Given the description of an element on the screen output the (x, y) to click on. 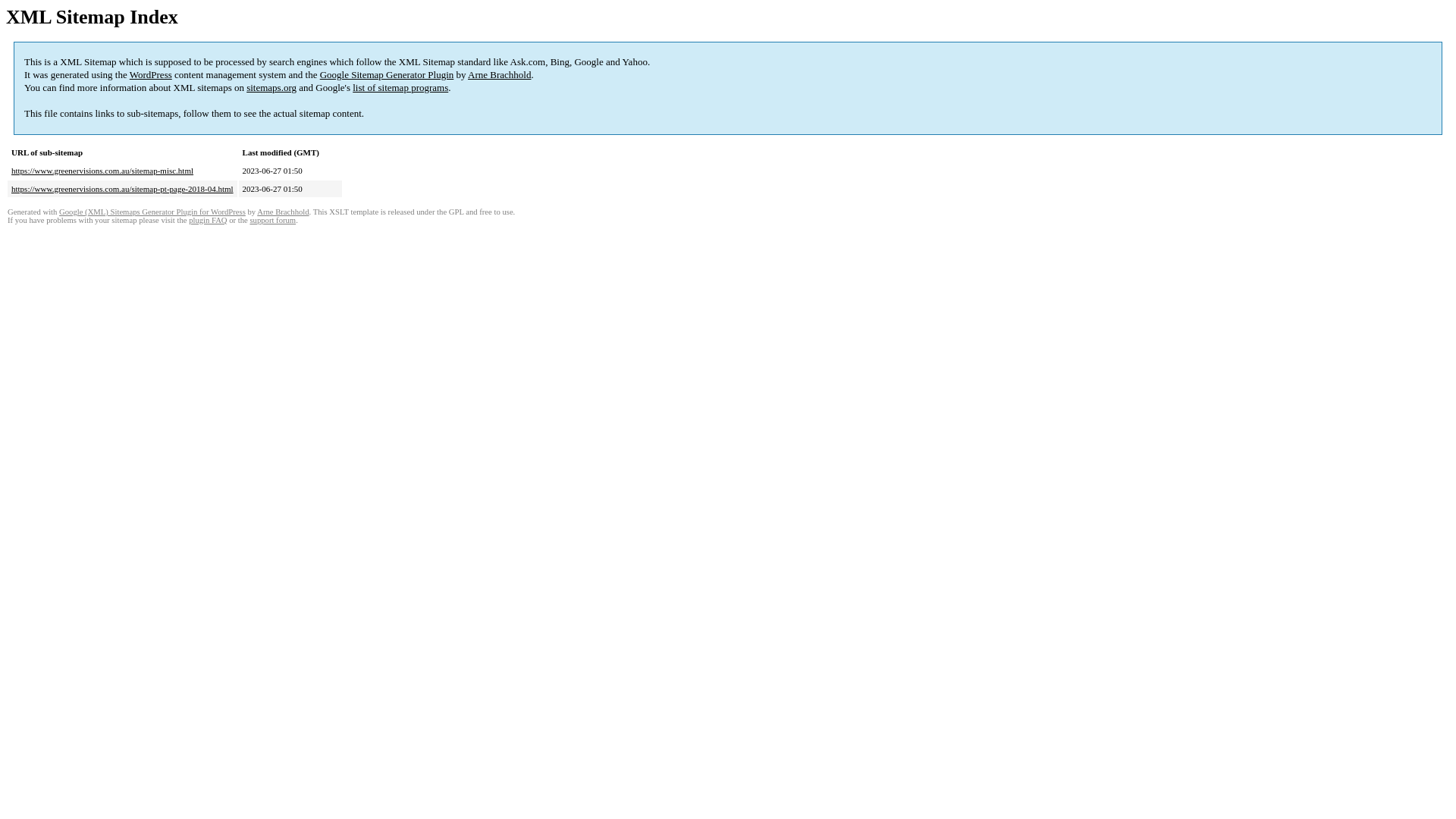
plugin FAQ Element type: text (207, 220)
support forum Element type: text (272, 220)
sitemaps.org Element type: text (271, 87)
Arne Brachhold Element type: text (498, 74)
list of sitemap programs Element type: text (400, 87)
Google Sitemap Generator Plugin Element type: text (387, 74)
Arne Brachhold Element type: text (282, 211)
WordPress Element type: text (150, 74)
https://www.greenervisions.com.au/sitemap-misc.html Element type: text (102, 170)
Google (XML) Sitemaps Generator Plugin for WordPress Element type: text (152, 211)
